Given the description of an element on the screen output the (x, y) to click on. 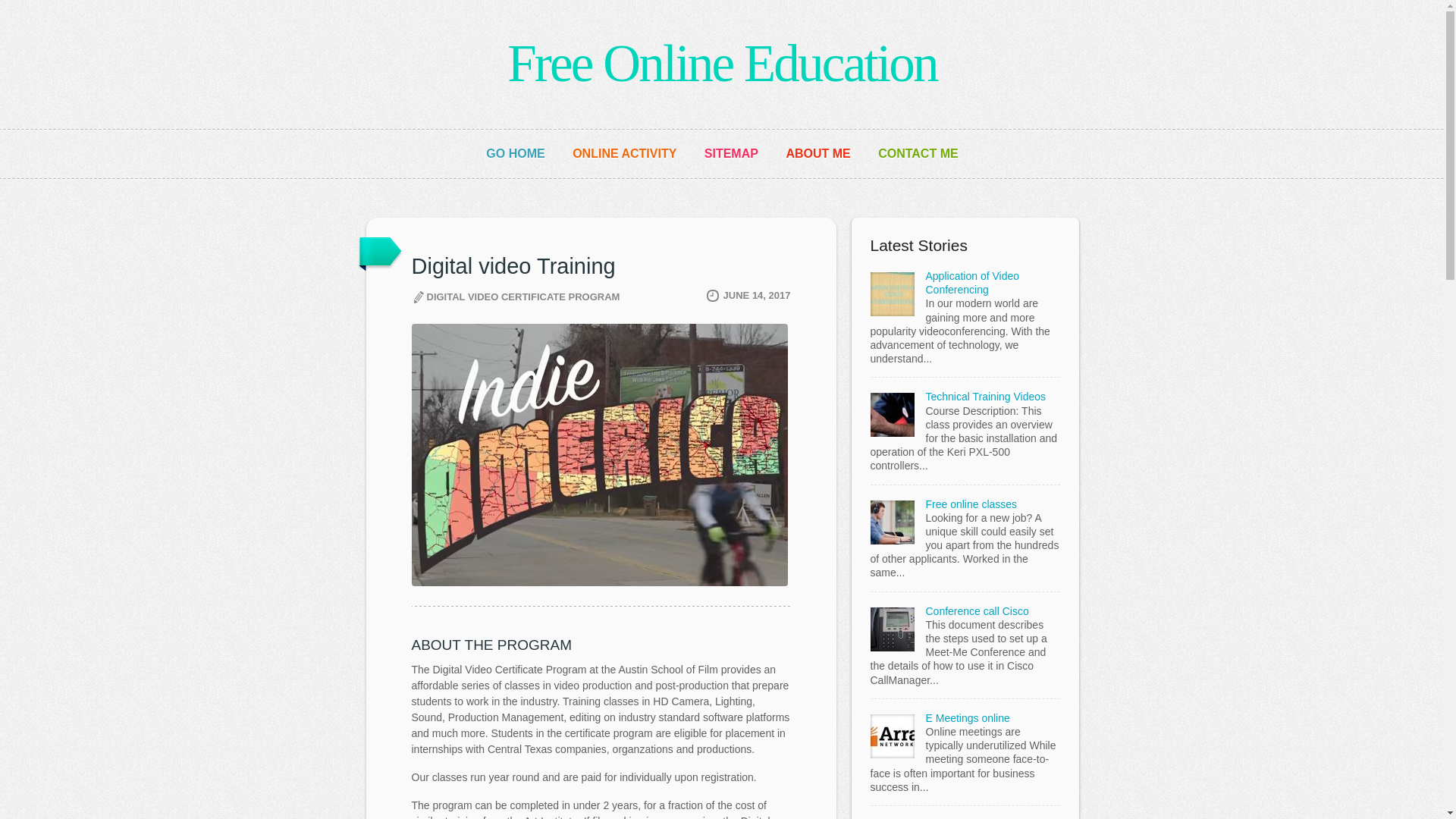
GO HOME (515, 153)
ABOUT ME (818, 153)
Technical Training Videos (984, 396)
Conference call Cisco (975, 611)
ONLINE ACTIVITY (624, 153)
Free online classes (970, 503)
Application of Video Conferencing (971, 282)
SITEMAP (731, 153)
Free Online Education (721, 63)
CONTACT ME (917, 153)
E Meetings online (966, 717)
